Given the description of an element on the screen output the (x, y) to click on. 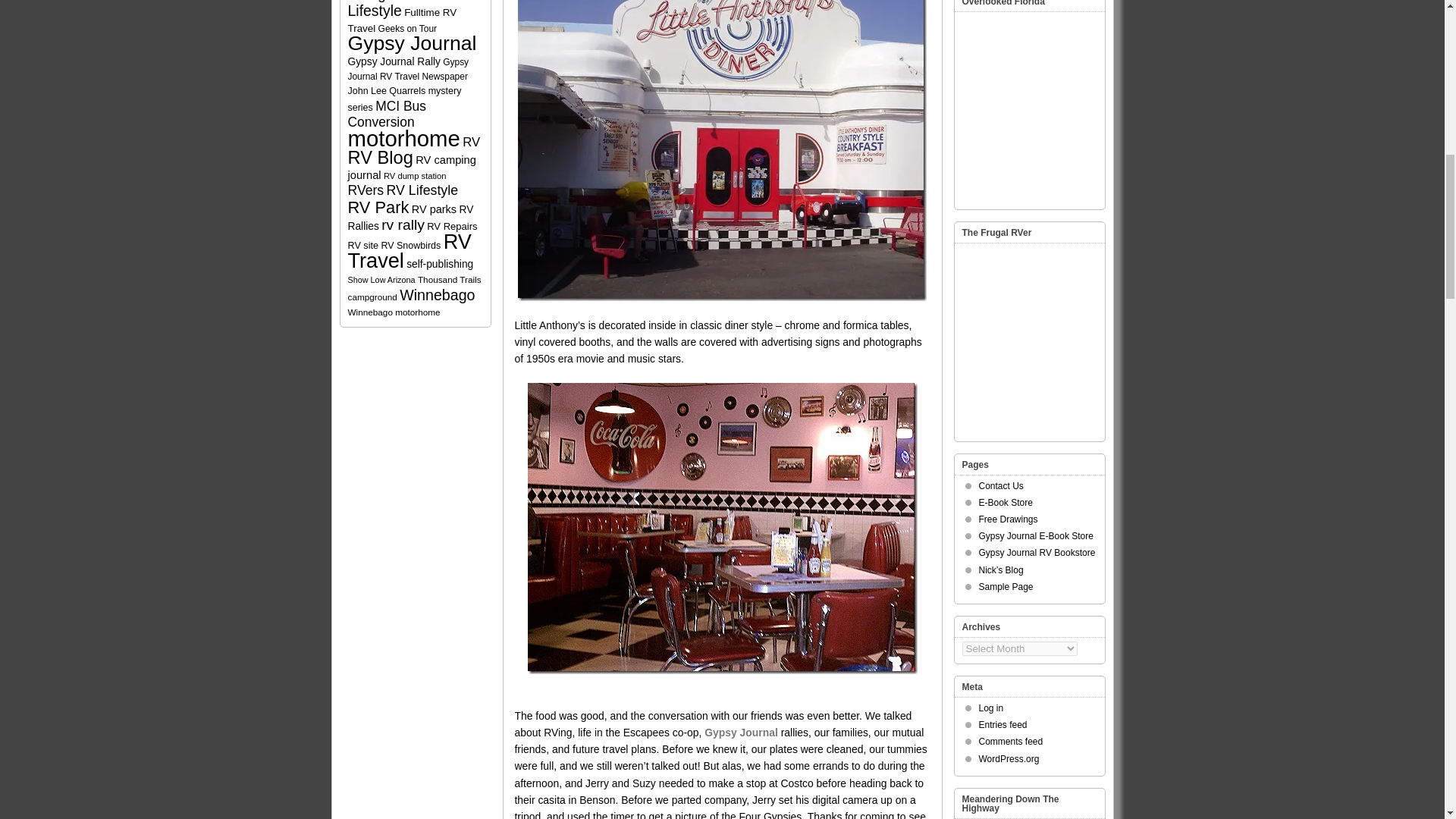
Little Anthony's outside 2 (722, 150)
Little Anthony's Diner 2 (722, 528)
Gypsy Journal (740, 732)
